Given the description of an element on the screen output the (x, y) to click on. 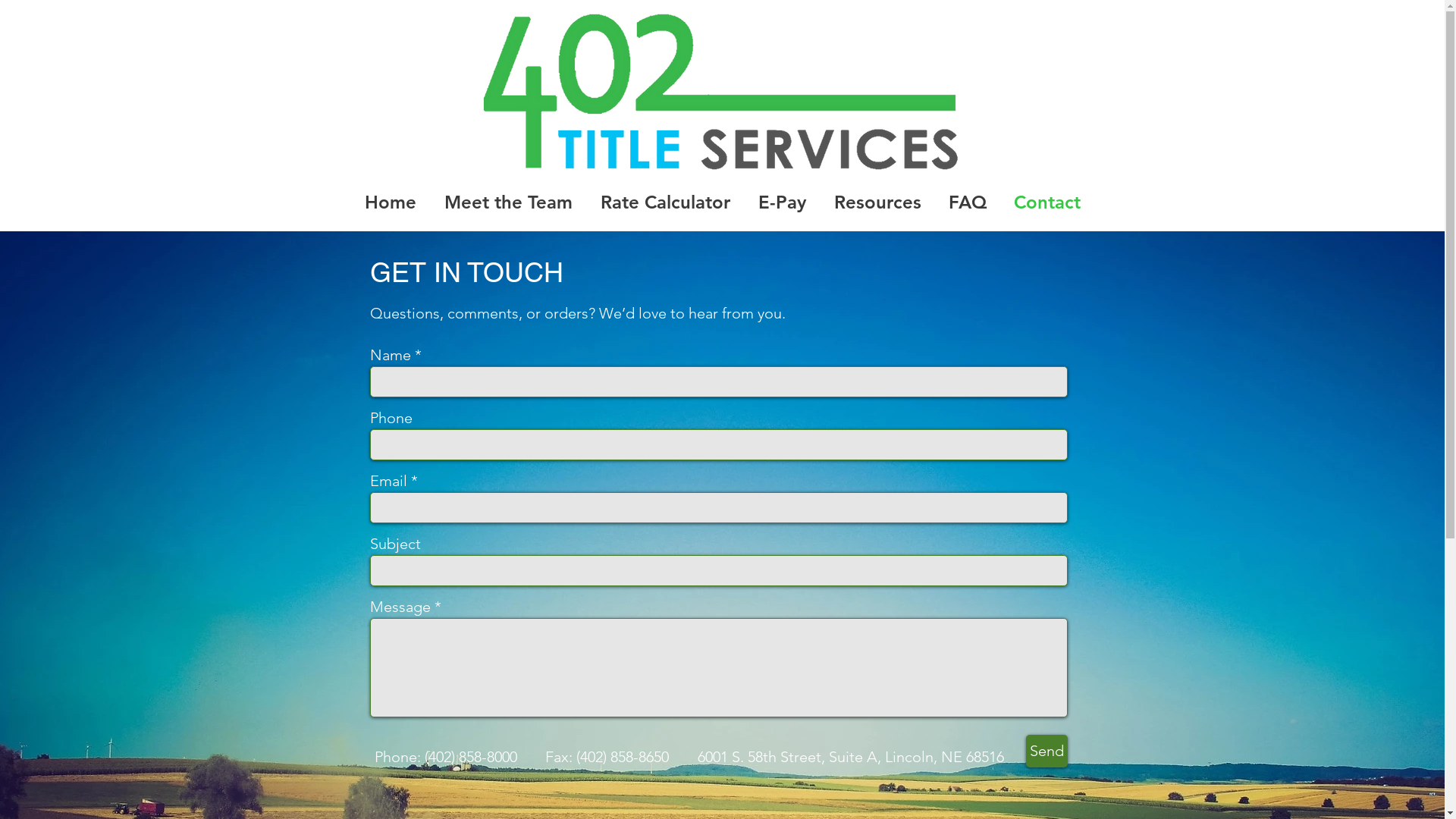
FAQ Element type: text (966, 201)
Meet the Team Element type: text (508, 201)
Resources Element type: text (877, 201)
Contact Element type: text (1046, 201)
Home Element type: text (389, 201)
E-Pay Element type: text (782, 201)
Rate Calculator Element type: text (665, 201)
Send Element type: text (1045, 750)
